Given the description of an element on the screen output the (x, y) to click on. 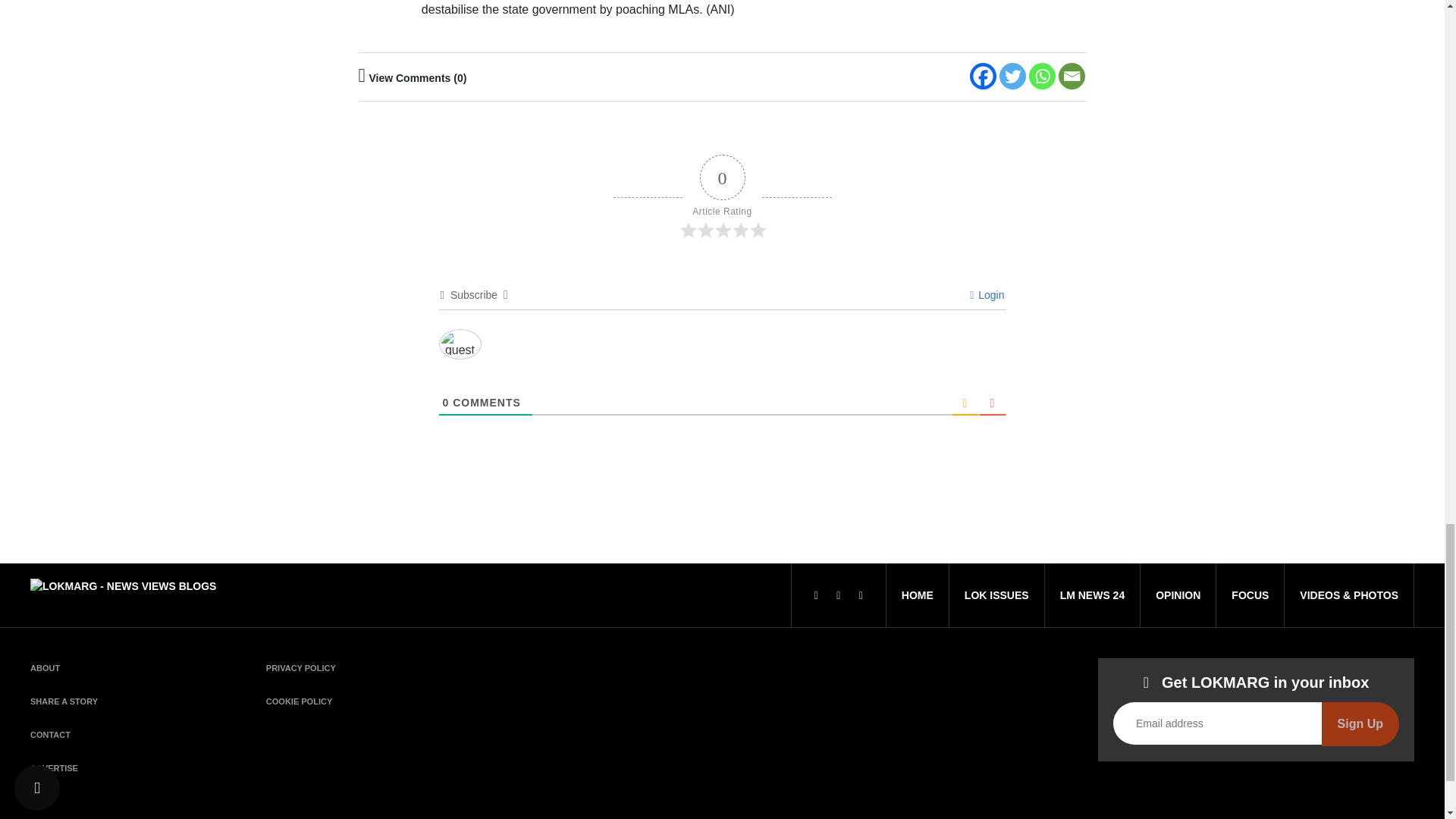
Login (986, 295)
Sign Up (1360, 723)
